Given the description of an element on the screen output the (x, y) to click on. 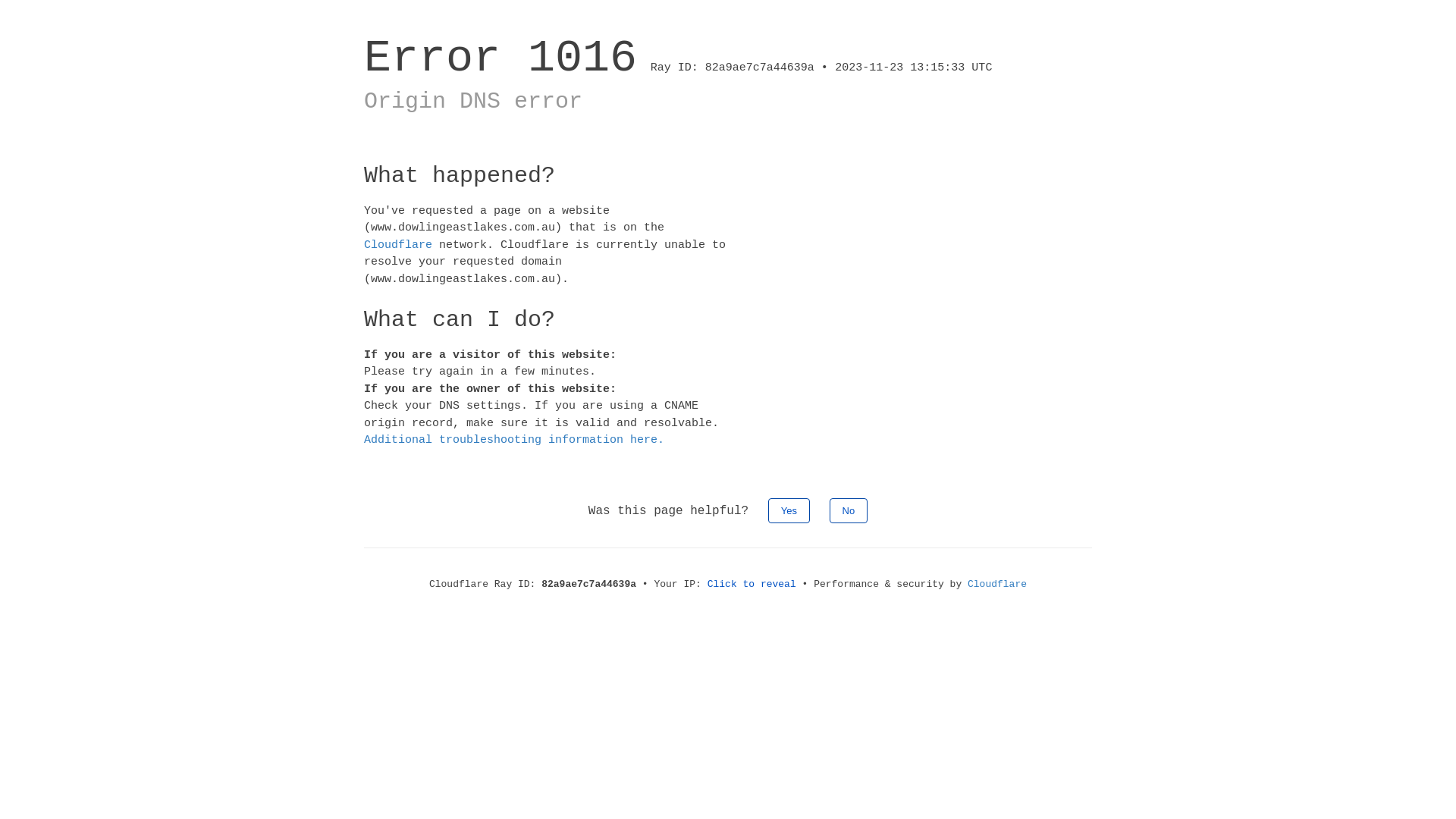
No Element type: text (848, 509)
Yes Element type: text (788, 509)
Click to reveal Element type: text (751, 583)
Additional troubleshooting information here. Element type: text (514, 439)
Cloudflare Element type: text (398, 244)
Cloudflare Element type: text (996, 583)
